Given the description of an element on the screen output the (x, y) to click on. 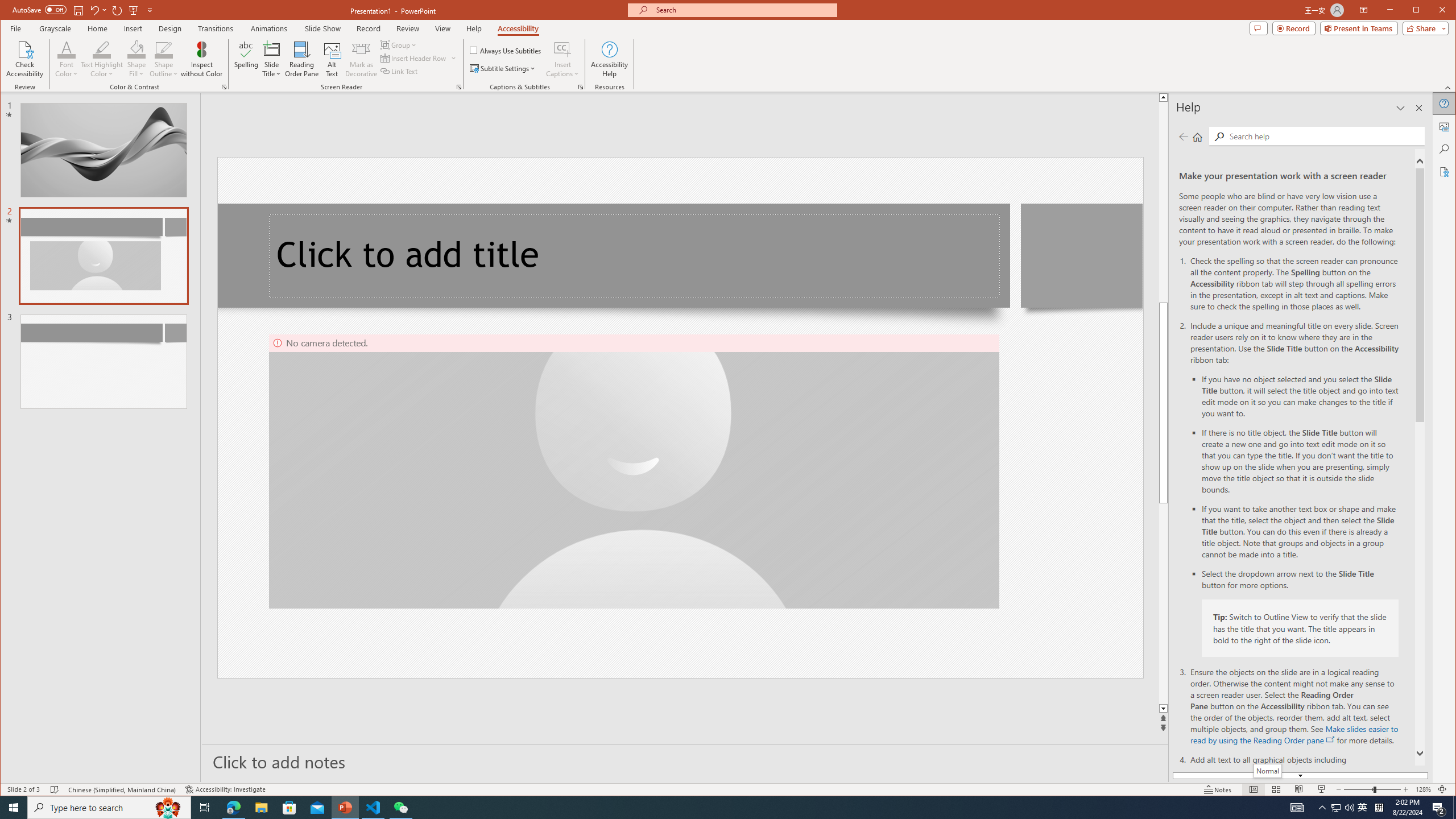
Spell Check No Errors (55, 789)
Alt Text (1444, 125)
Search (1444, 148)
File Tab (15, 27)
Shape Outline Blue, Accent 1 (163, 48)
Zoom to Fit  (1441, 789)
Subtitle Settings (502, 68)
Grayscale (55, 28)
Insert Captions (562, 59)
Line down (1162, 709)
Title TextBox (634, 255)
Accessibility Help (608, 59)
User Promoted Notification Area (1362, 807)
